Given the description of an element on the screen output the (x, y) to click on. 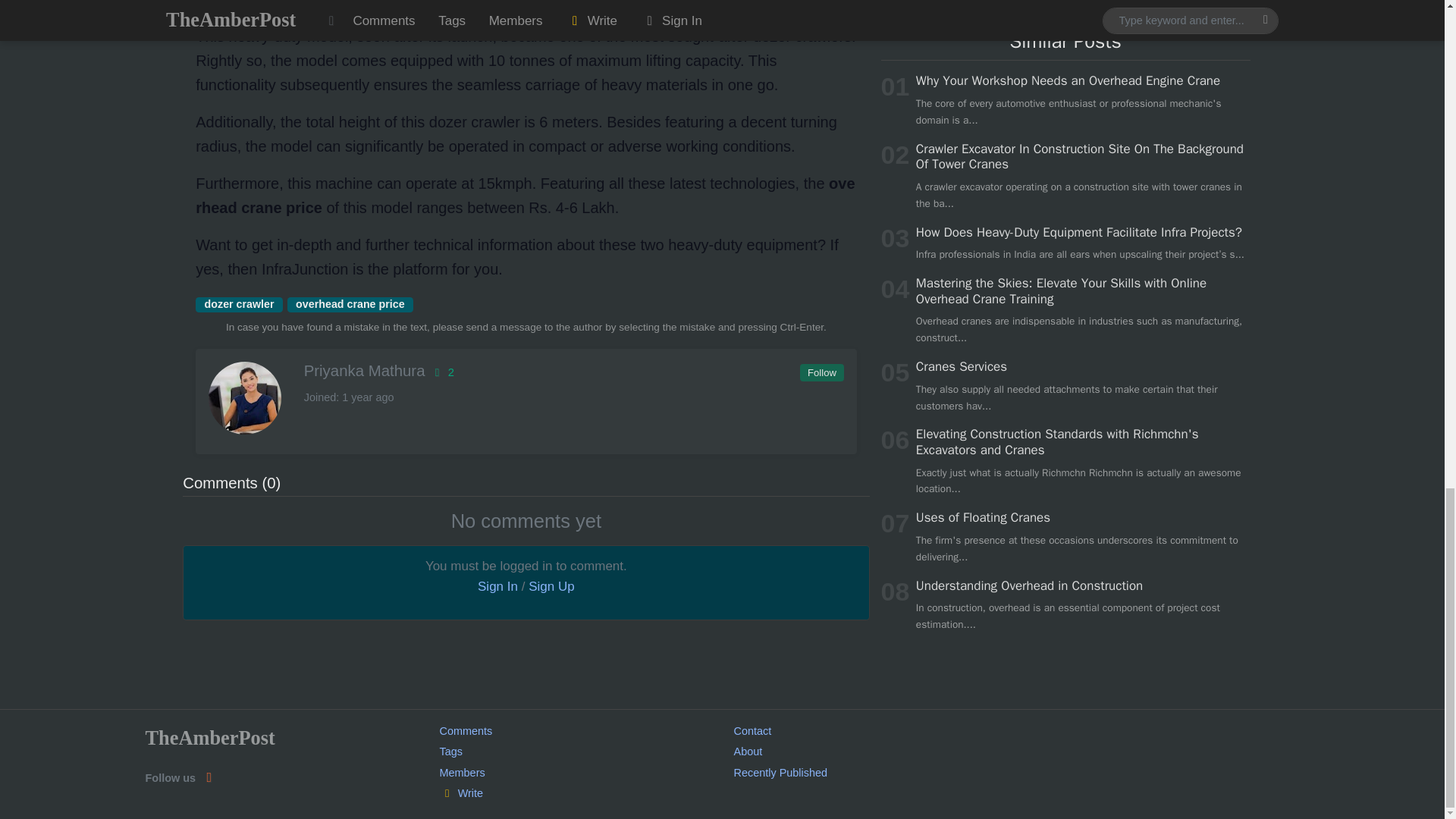
overhead crane price (349, 304)
dozer crawler (238, 304)
overhead crane price (524, 195)
Follow (821, 372)
dozer crawler (238, 304)
Sign Up (550, 586)
Priyanka Mathura 2 (525, 370)
overhead crane price (349, 304)
Sign In (497, 586)
Rating (441, 372)
